Given the description of an element on the screen output the (x, y) to click on. 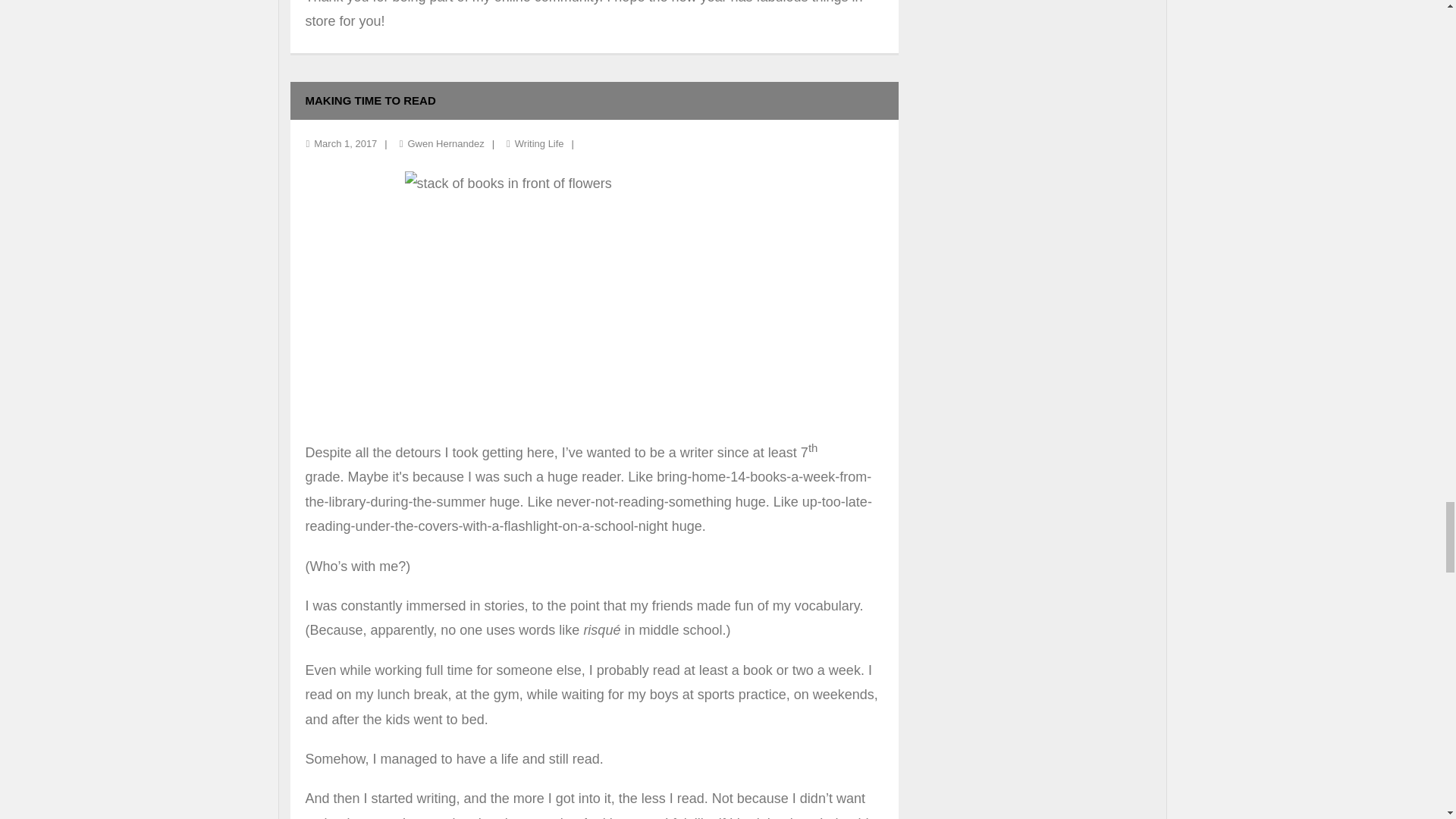
Permalink to Making time to read (369, 100)
